Given the description of an element on the screen output the (x, y) to click on. 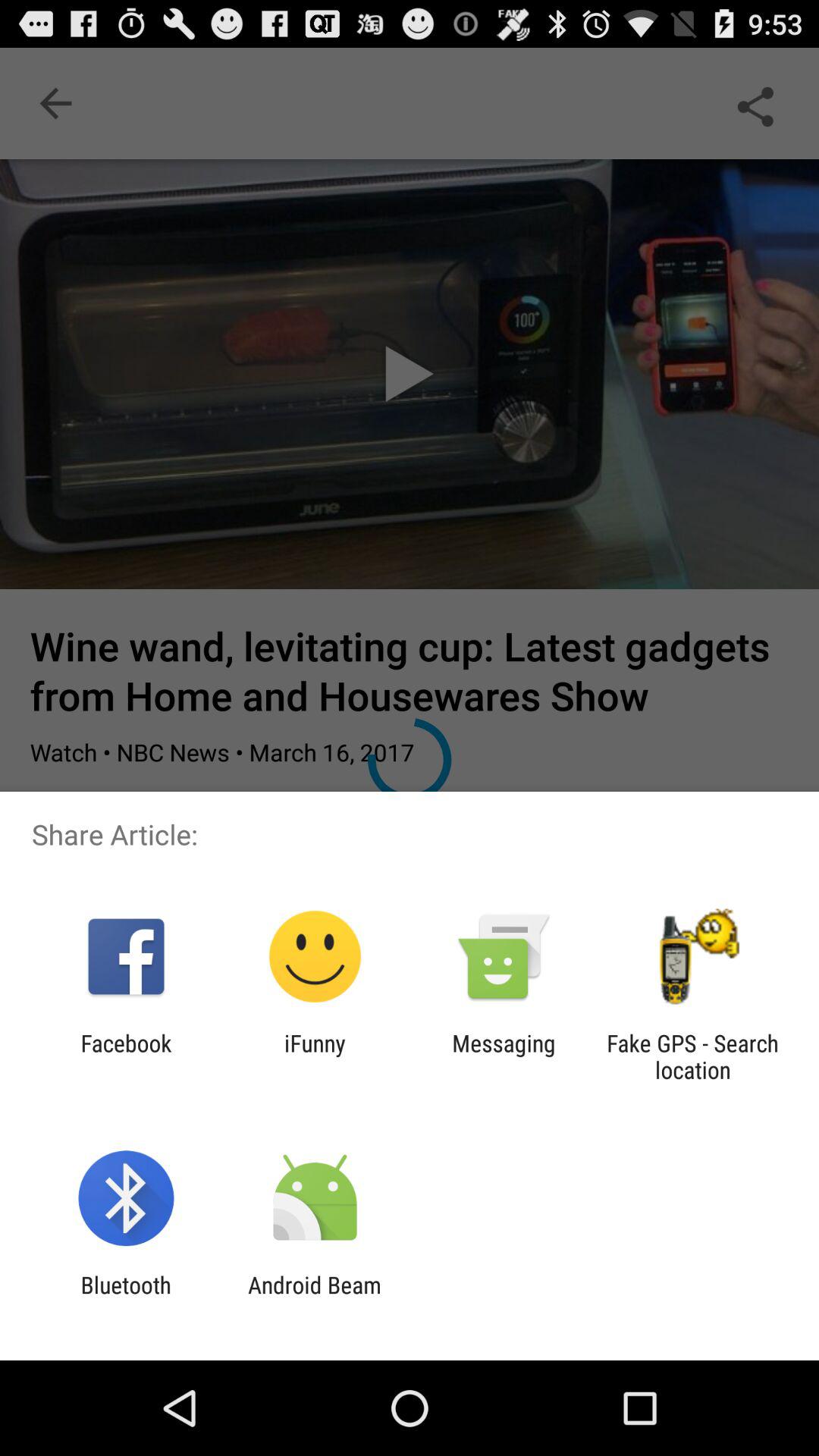
select app to the right of facebook icon (314, 1056)
